Given the description of an element on the screen output the (x, y) to click on. 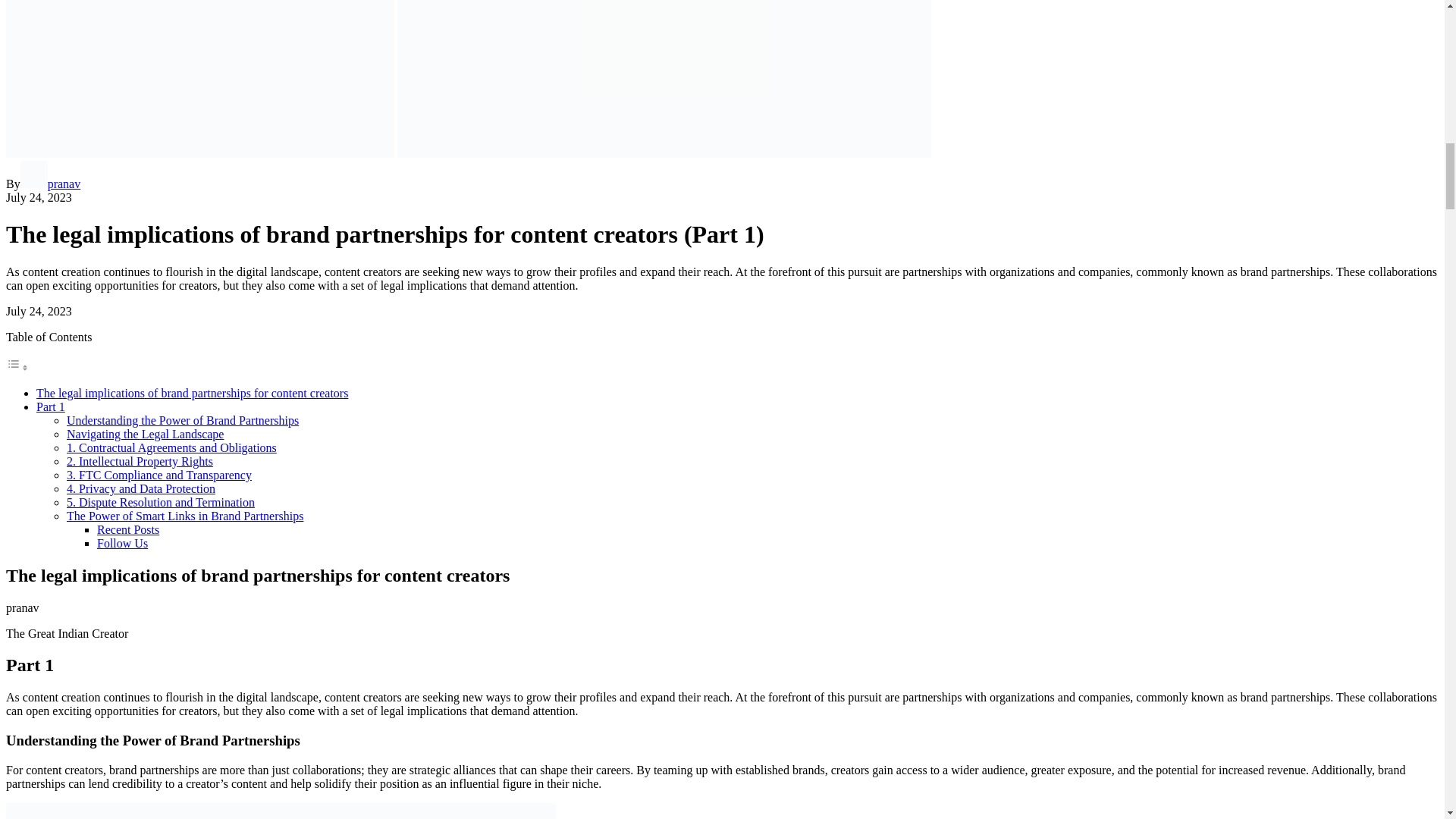
Follow Us (122, 543)
1. Contractual Agreements and Obligations (171, 447)
Recent Posts (127, 529)
3. FTC Compliance and Transparency (158, 474)
Part 1 (50, 406)
5. Dispute Resolution and Termination (160, 502)
4. Privacy and Data Protection (140, 488)
Part 1 (50, 406)
Navigating the Legal Landscape (145, 433)
2. Intellectual Property Rights (139, 461)
The Power of Smart Links in Brand Partnerships (184, 515)
pranav (50, 183)
Navigating the Legal Landscape (145, 433)
